Given the description of an element on the screen output the (x, y) to click on. 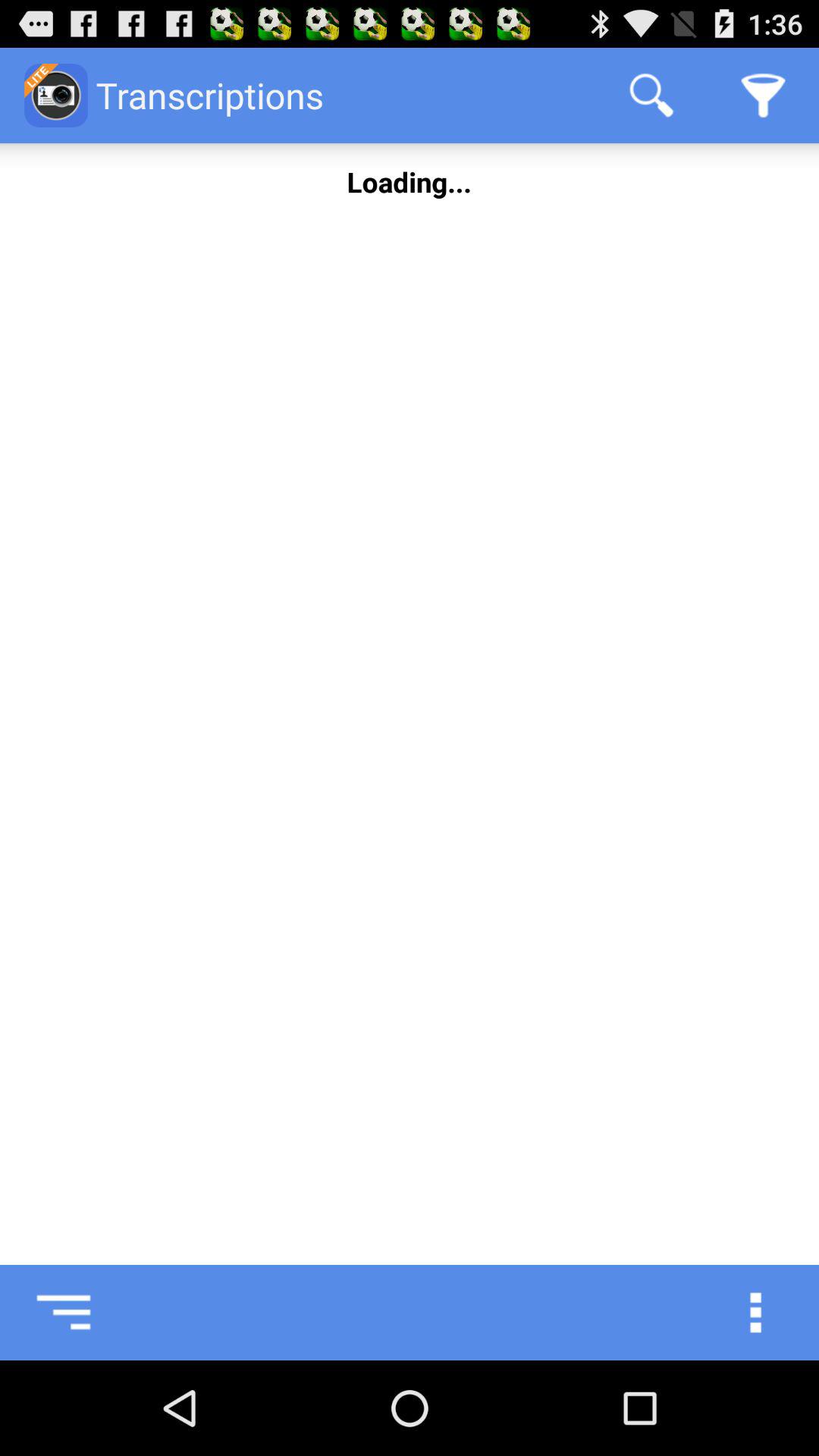
this gives the more options (771, 1312)
